Given the description of an element on the screen output the (x, y) to click on. 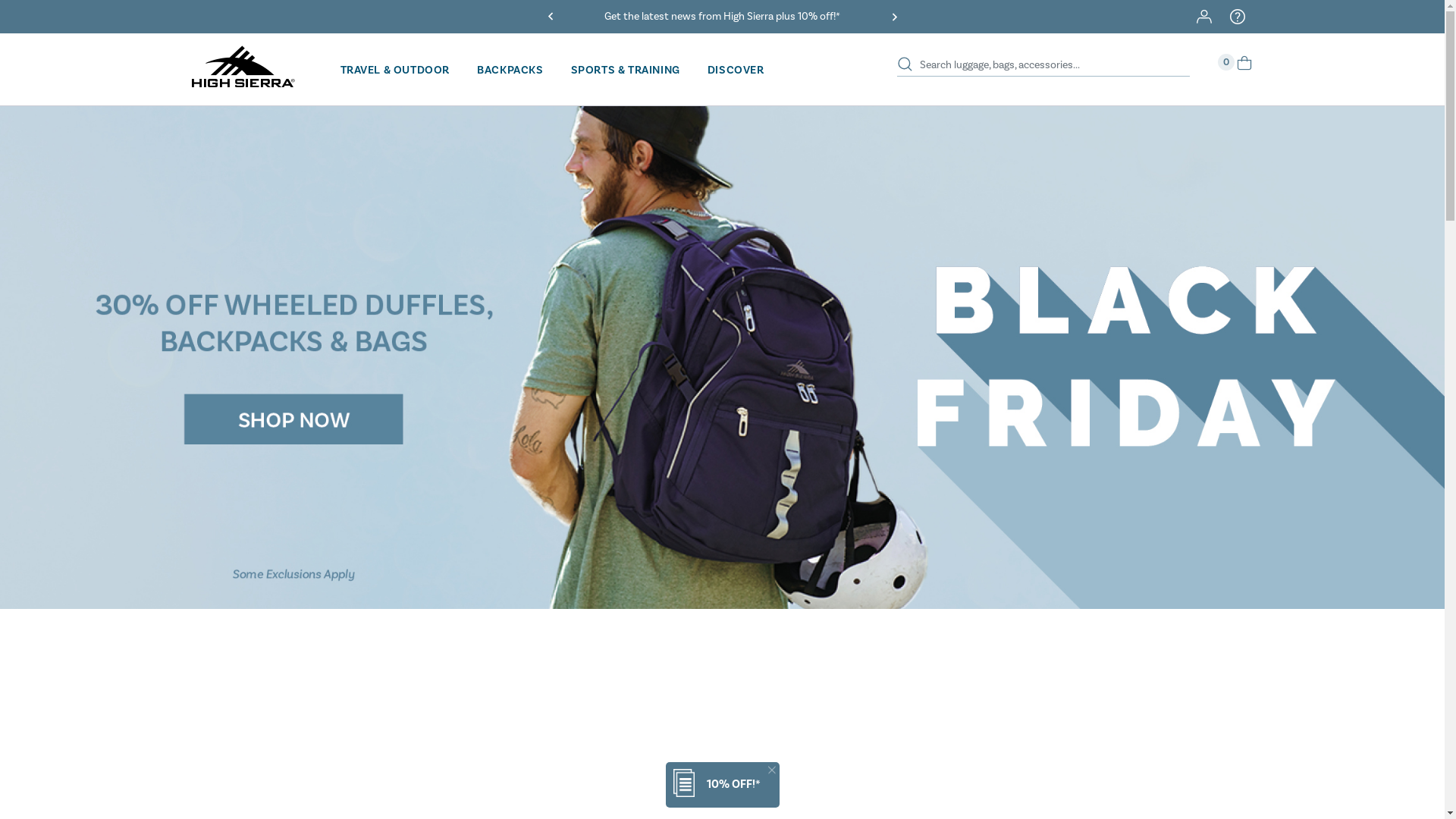
0 Element type: text (1243, 68)
Samsonite Home Element type: hover (242, 81)
DISCOVER Element type: text (735, 69)
Black Friday Sale On Now | 30% Off* Element type: text (722, 16)
TRAVEL & OUTDOOR Element type: text (394, 69)
SPORTS & TRAINING Element type: text (625, 69)
BACKPACKS Element type: text (509, 69)
